Given the description of an element on the screen output the (x, y) to click on. 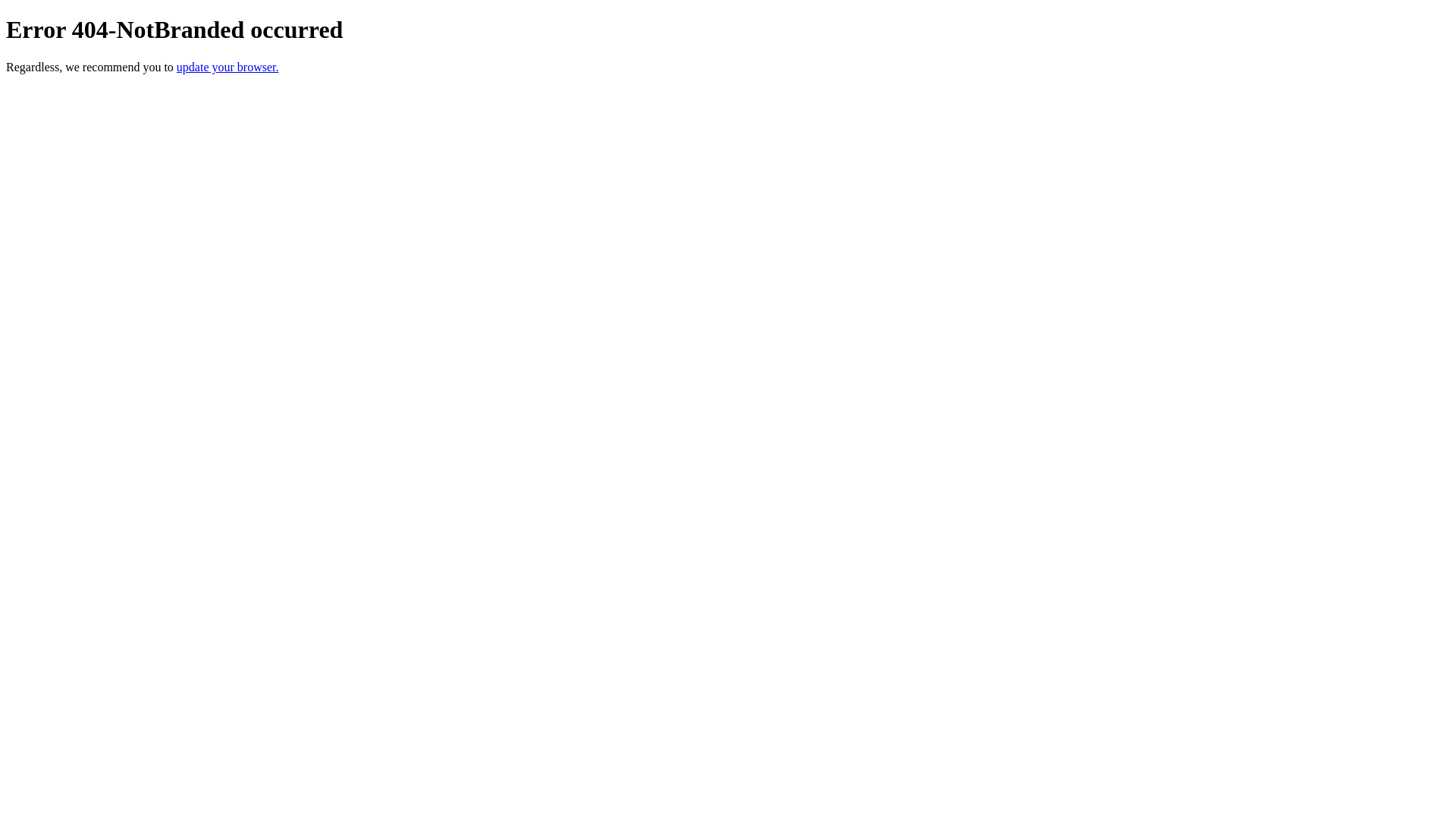
update your browser. Element type: text (227, 66)
